Given the description of an element on the screen output the (x, y) to click on. 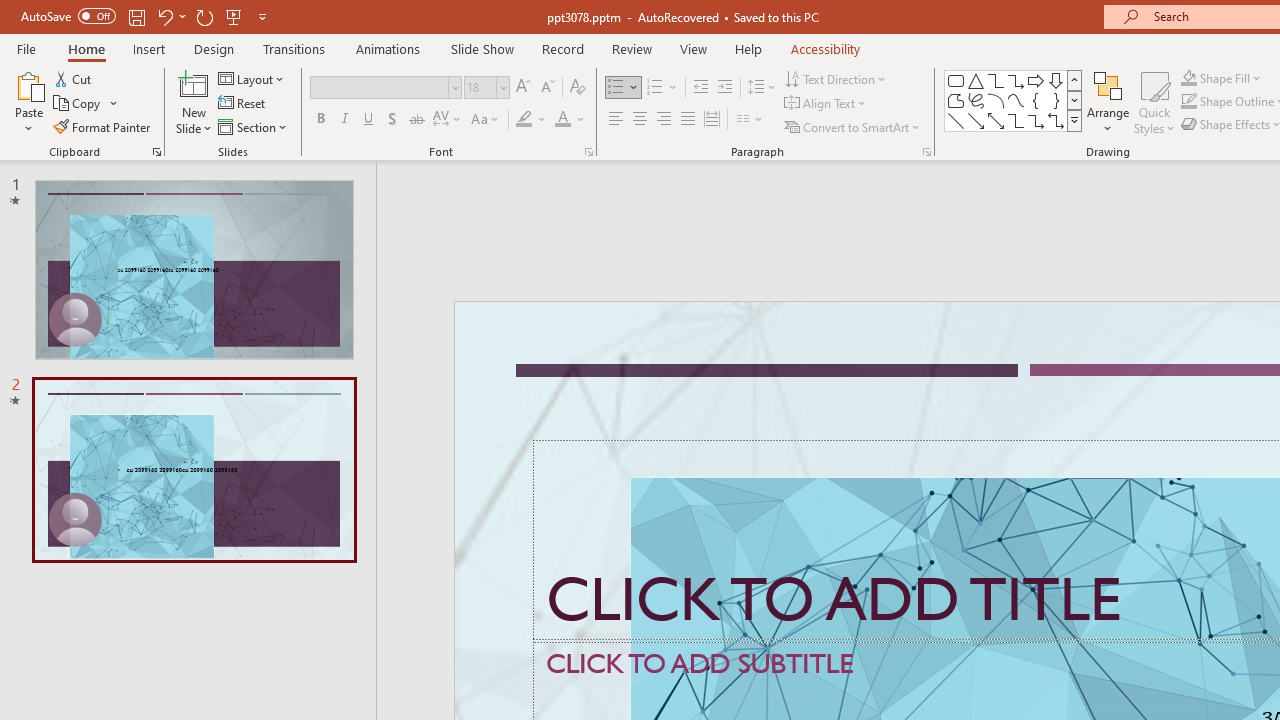
Connector: Elbow Double-Arrow (1055, 120)
